Given the description of an element on the screen output the (x, y) to click on. 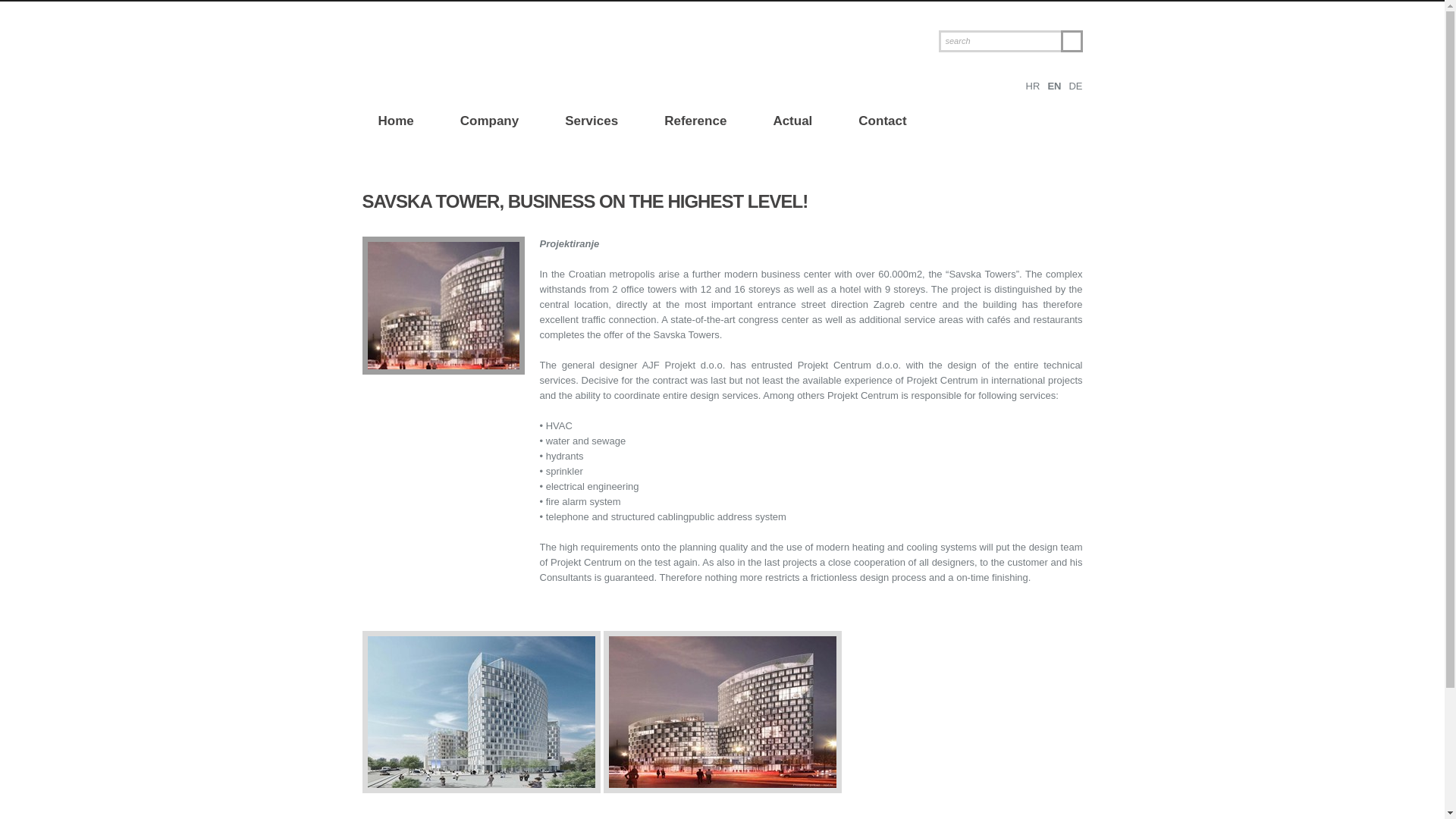
DE (1074, 85)
Reference (694, 122)
Actual (791, 122)
search (1000, 41)
Contact (882, 122)
Services (591, 122)
EN (1053, 85)
HR (1033, 85)
Home (394, 122)
Company (489, 122)
